Given the description of an element on the screen output the (x, y) to click on. 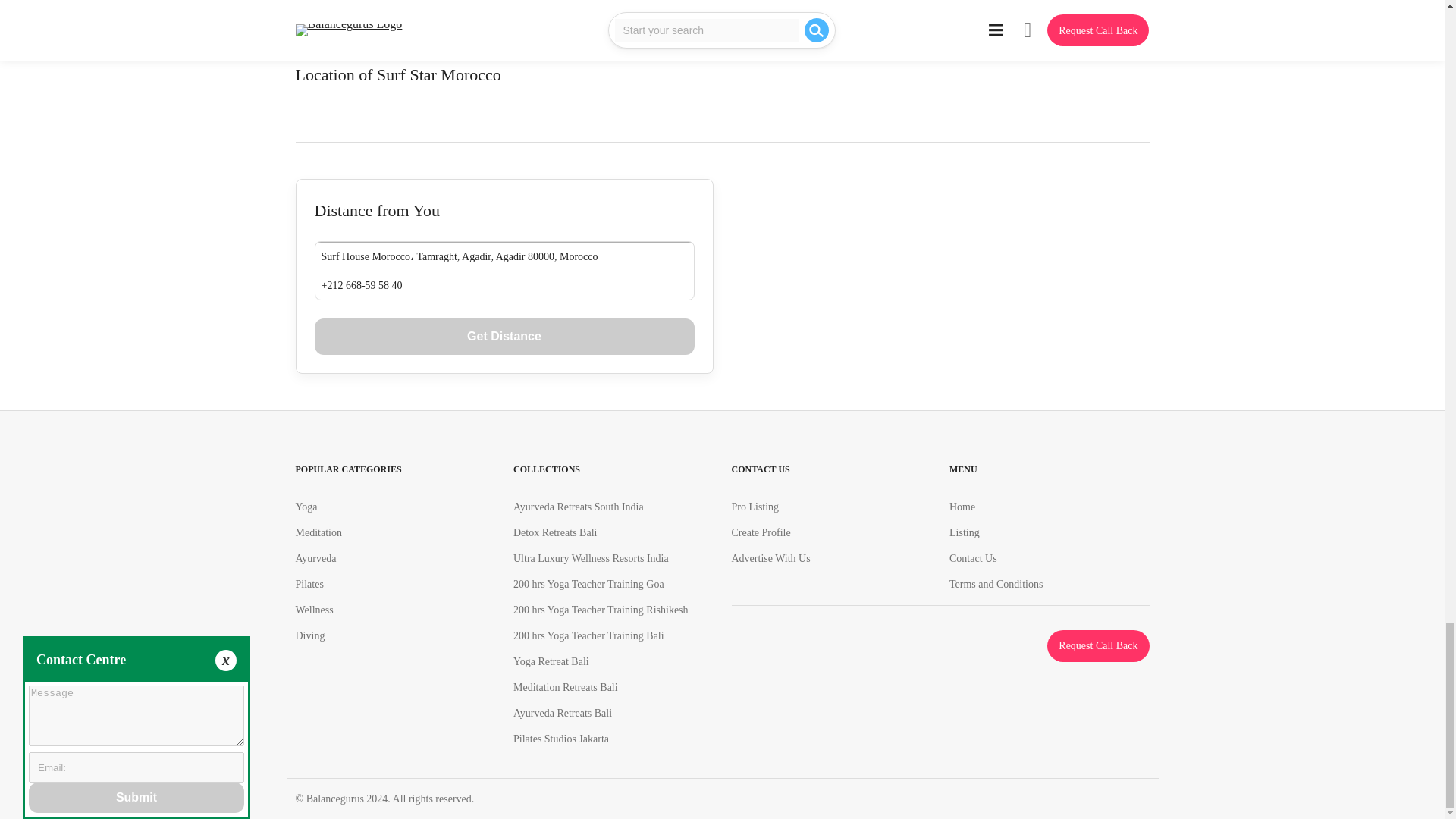
Get Distance (504, 336)
